Given the description of an element on the screen output the (x, y) to click on. 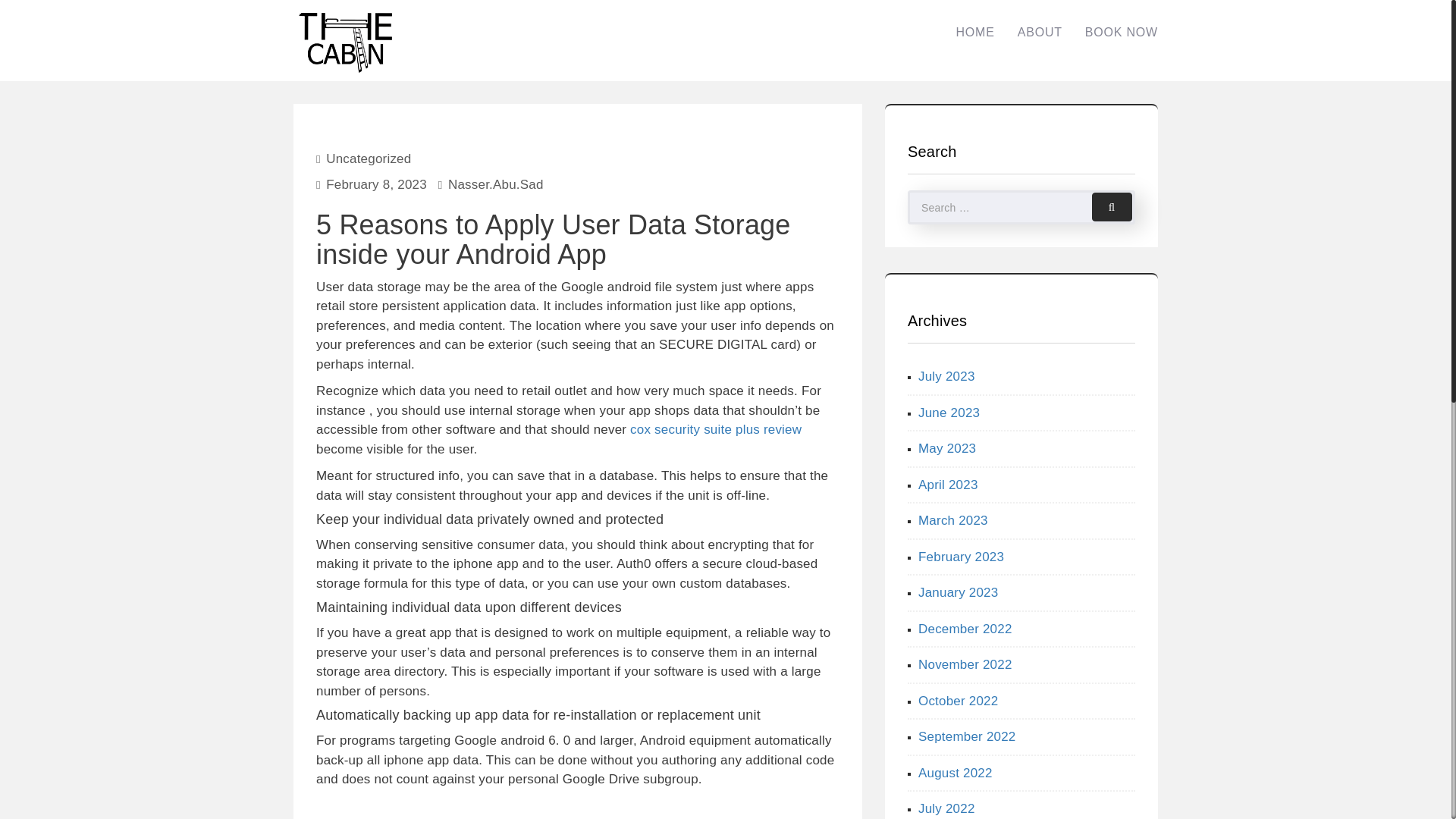
cox security suite plus review (716, 429)
March 2023 (953, 520)
Uncategorized (368, 158)
December 2022 (964, 628)
October 2022 (957, 699)
July 2022 (946, 808)
February 8, 2023 (376, 184)
April 2023 (948, 484)
September 2022 (967, 736)
ABOUT (1040, 32)
